Given the description of an element on the screen output the (x, y) to click on. 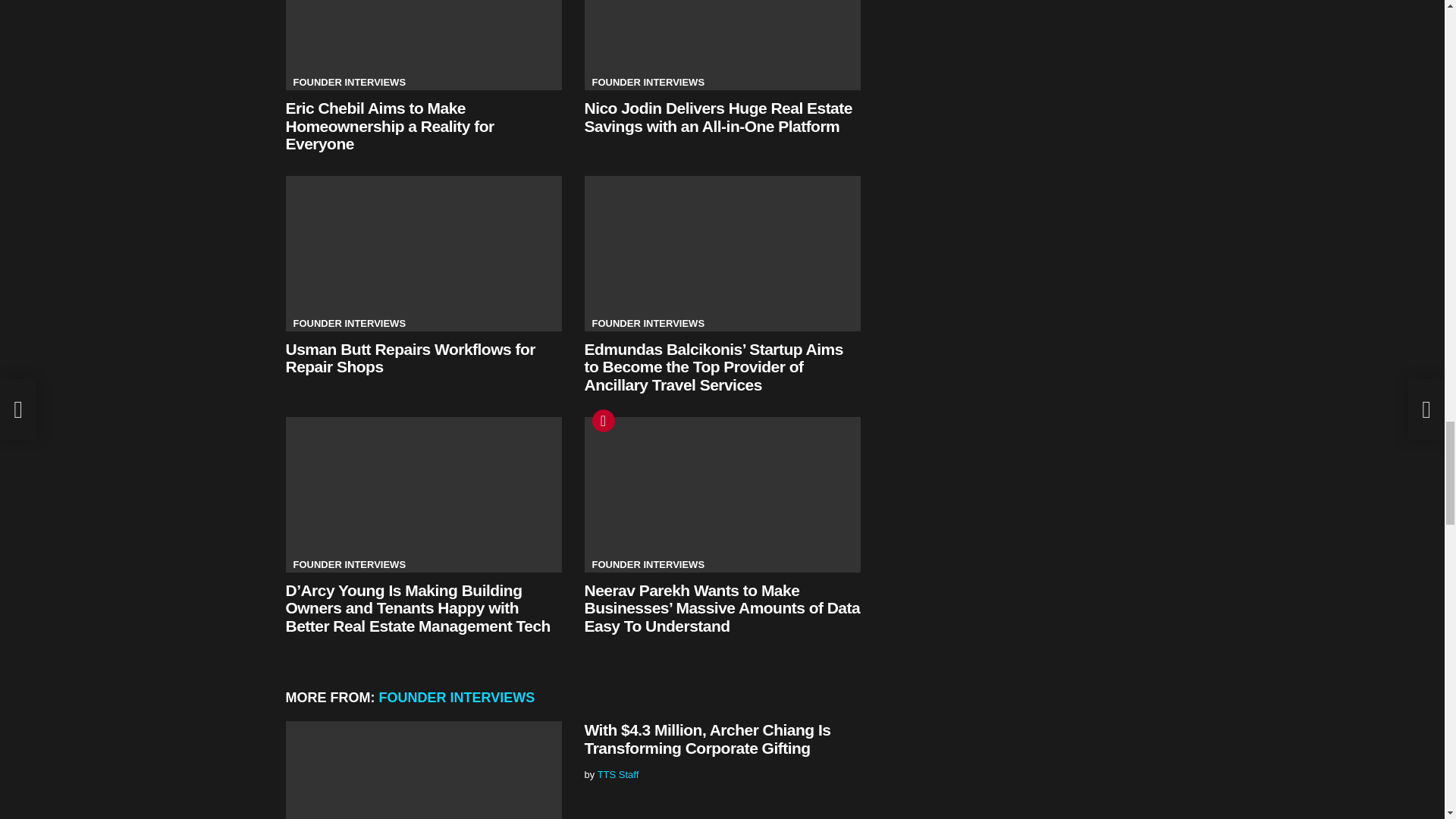
FOUNDER INTERVIEWS (349, 82)
Usman Butt Repairs Workflows for Repair Shops (422, 253)
FOUNDER INTERVIEWS (647, 82)
Trending (602, 420)
